Given the description of an element on the screen output the (x, y) to click on. 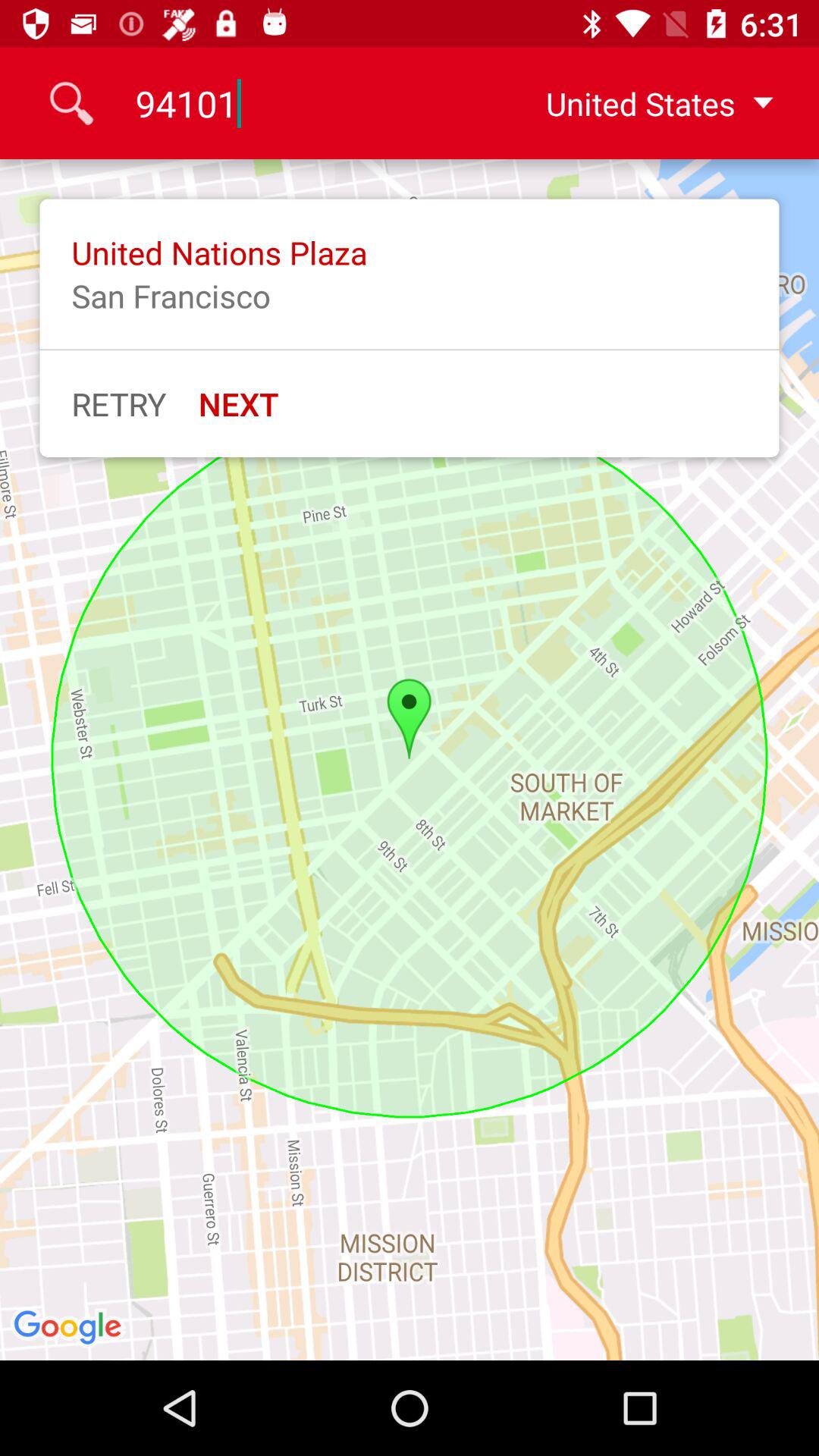
turn off the item next to the 94101 icon (647, 103)
